Given the description of an element on the screen output the (x, y) to click on. 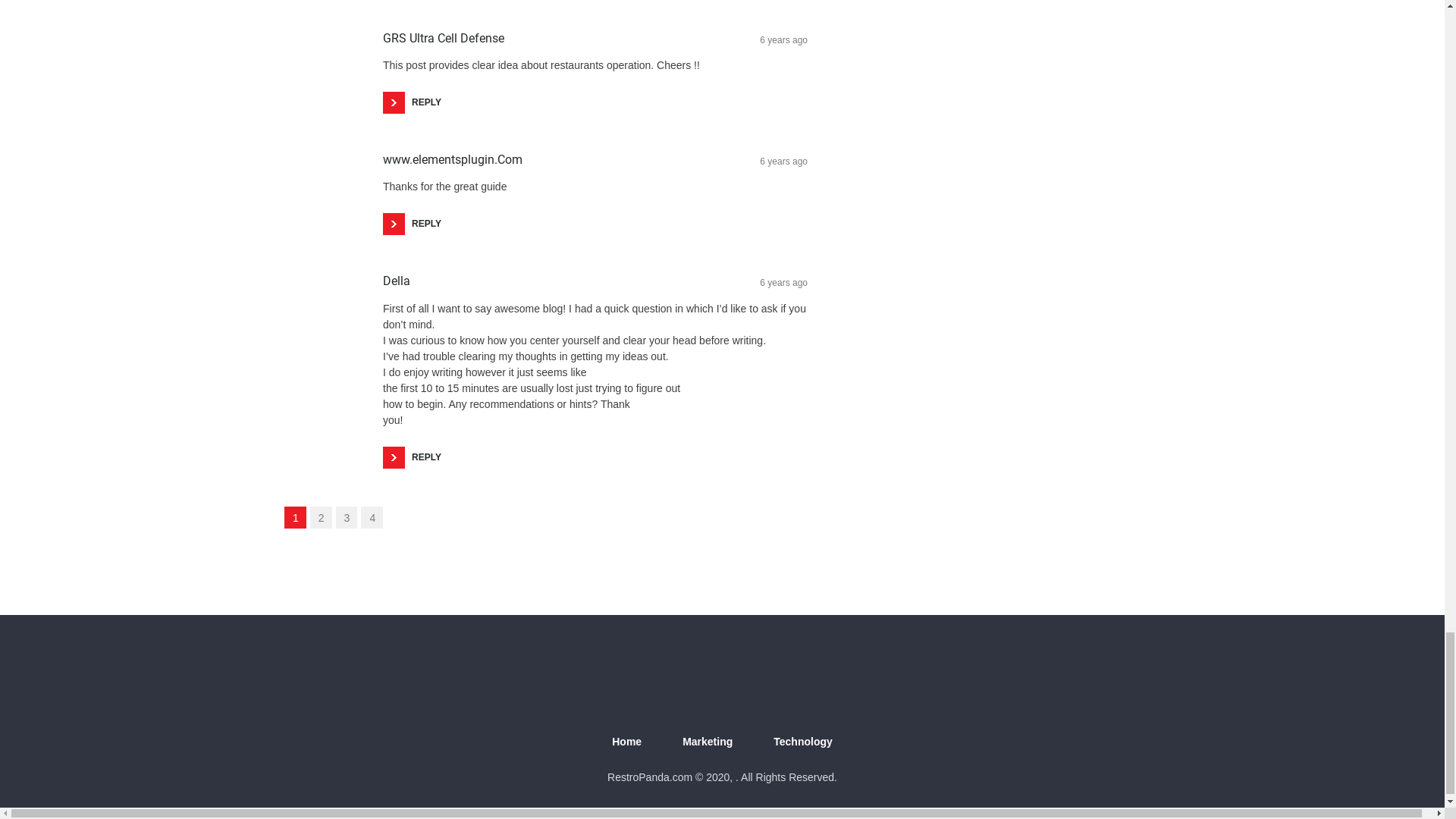
4 (371, 517)
Della (396, 280)
REPLY (415, 223)
REPLY (415, 102)
3 (347, 517)
REPLY (415, 457)
2 (320, 517)
